Given the description of an element on the screen output the (x, y) to click on. 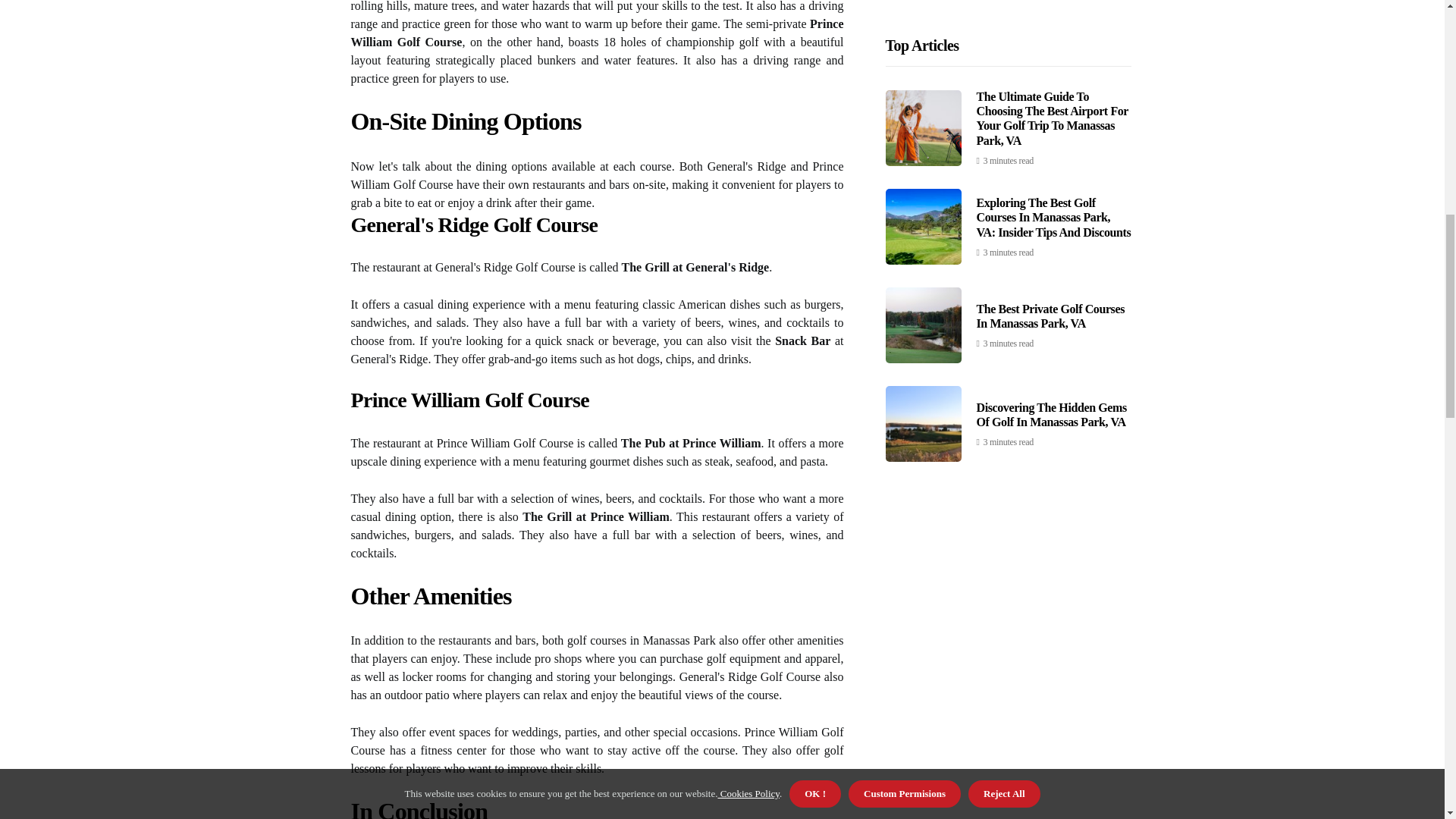
Discovering The Hidden Gems Of Golf In Manassas Park, VA (1051, 123)
The Best Private Golf Courses In Manassas Park, VA (1050, 24)
